Given the description of an element on the screen output the (x, y) to click on. 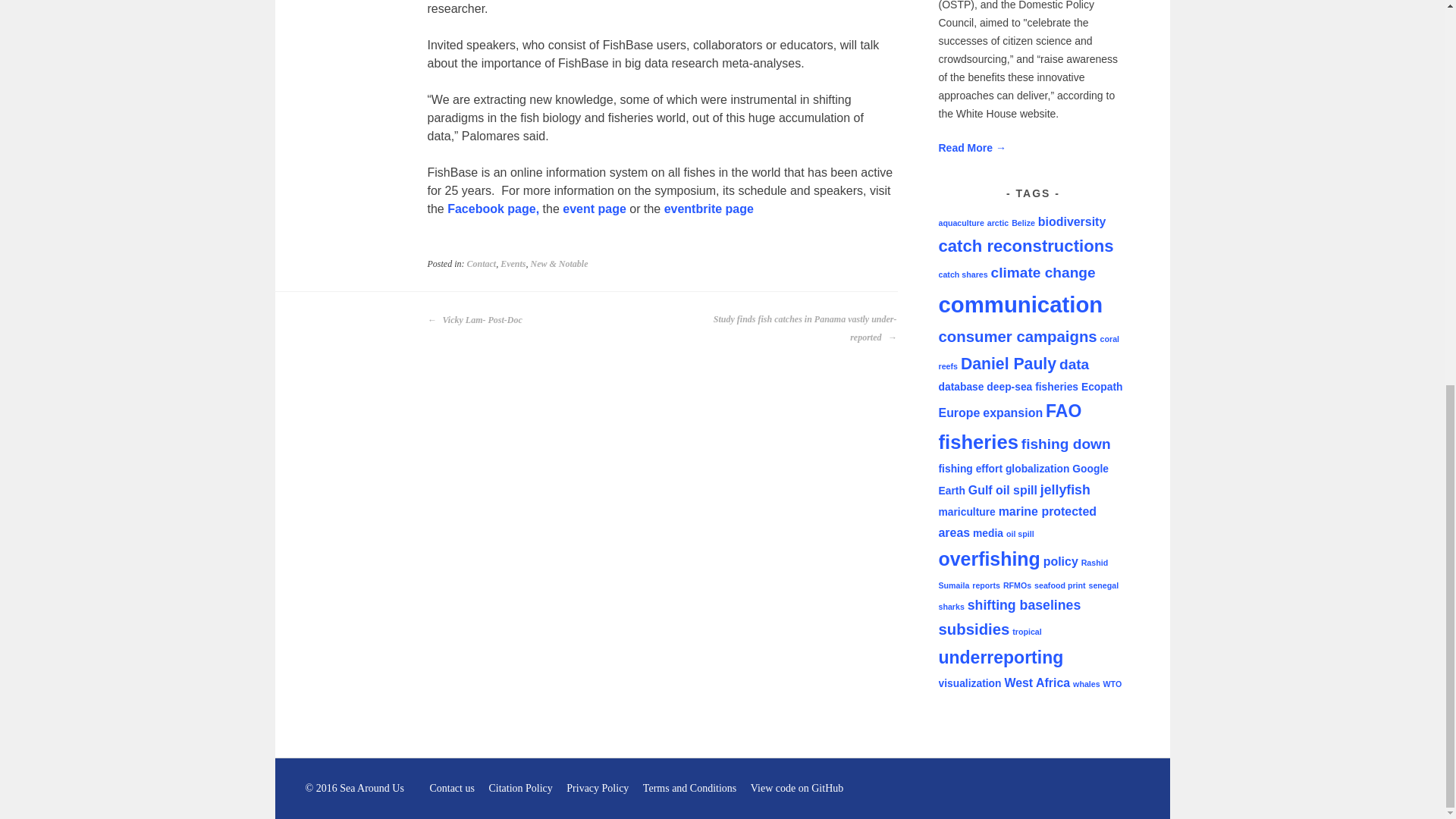
Contact (481, 263)
Events (512, 263)
1 topic (1023, 222)
1 topic (961, 222)
eventbrite page (708, 208)
1 topic (998, 222)
6 topics (1018, 336)
event page (595, 208)
5 topics (1043, 272)
8 topics (1026, 245)
 Vicky Lam- Post-Doc (475, 320)
1 topic (1029, 352)
3 topics (1071, 221)
1 topic (963, 274)
22 topics (1021, 303)
